Given the description of an element on the screen output the (x, y) to click on. 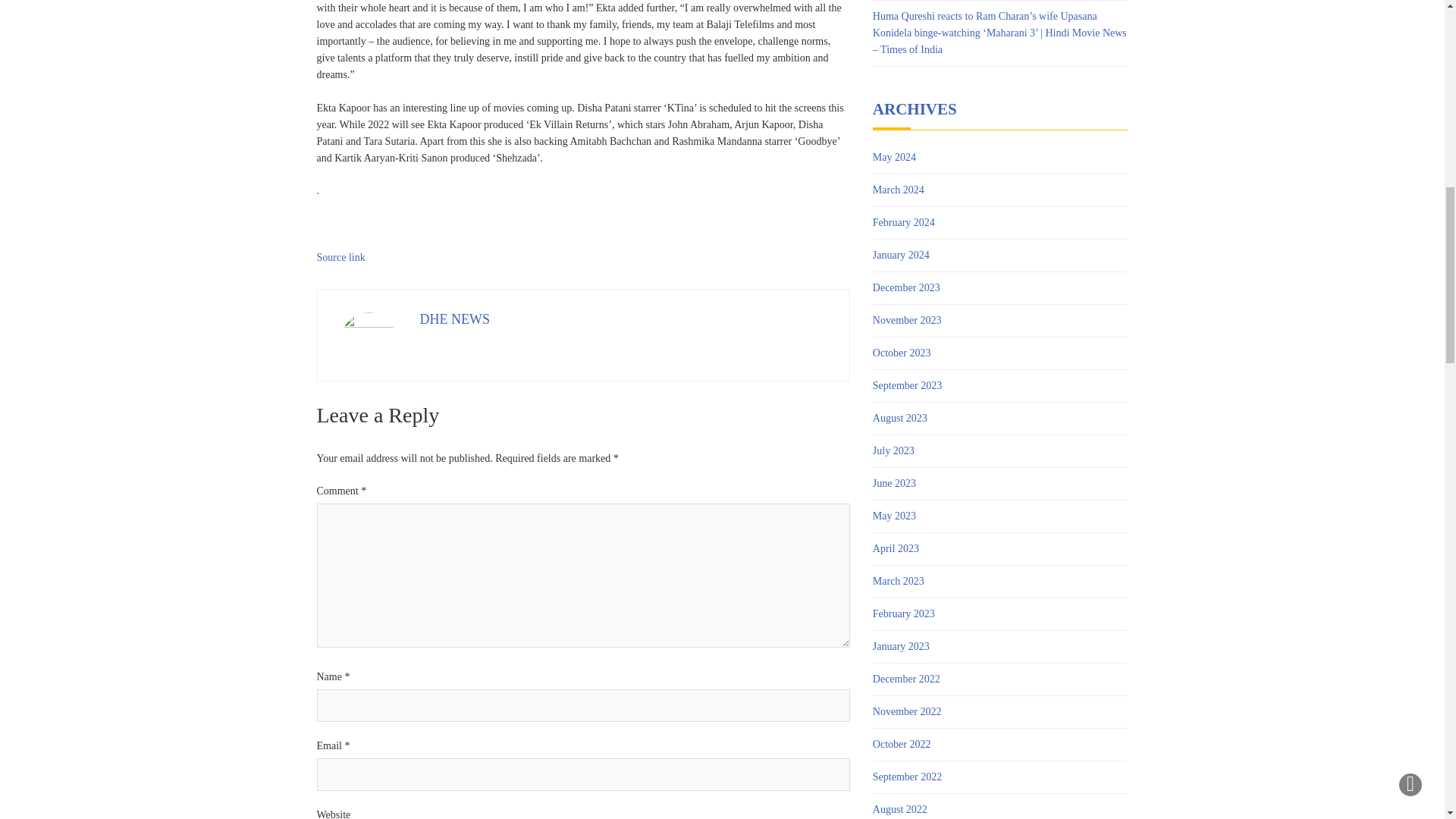
May 2024 (893, 157)
January 2024 (901, 255)
February 2024 (903, 222)
Source link (341, 256)
March 2024 (898, 190)
DHE NEWS (455, 319)
